Given the description of an element on the screen output the (x, y) to click on. 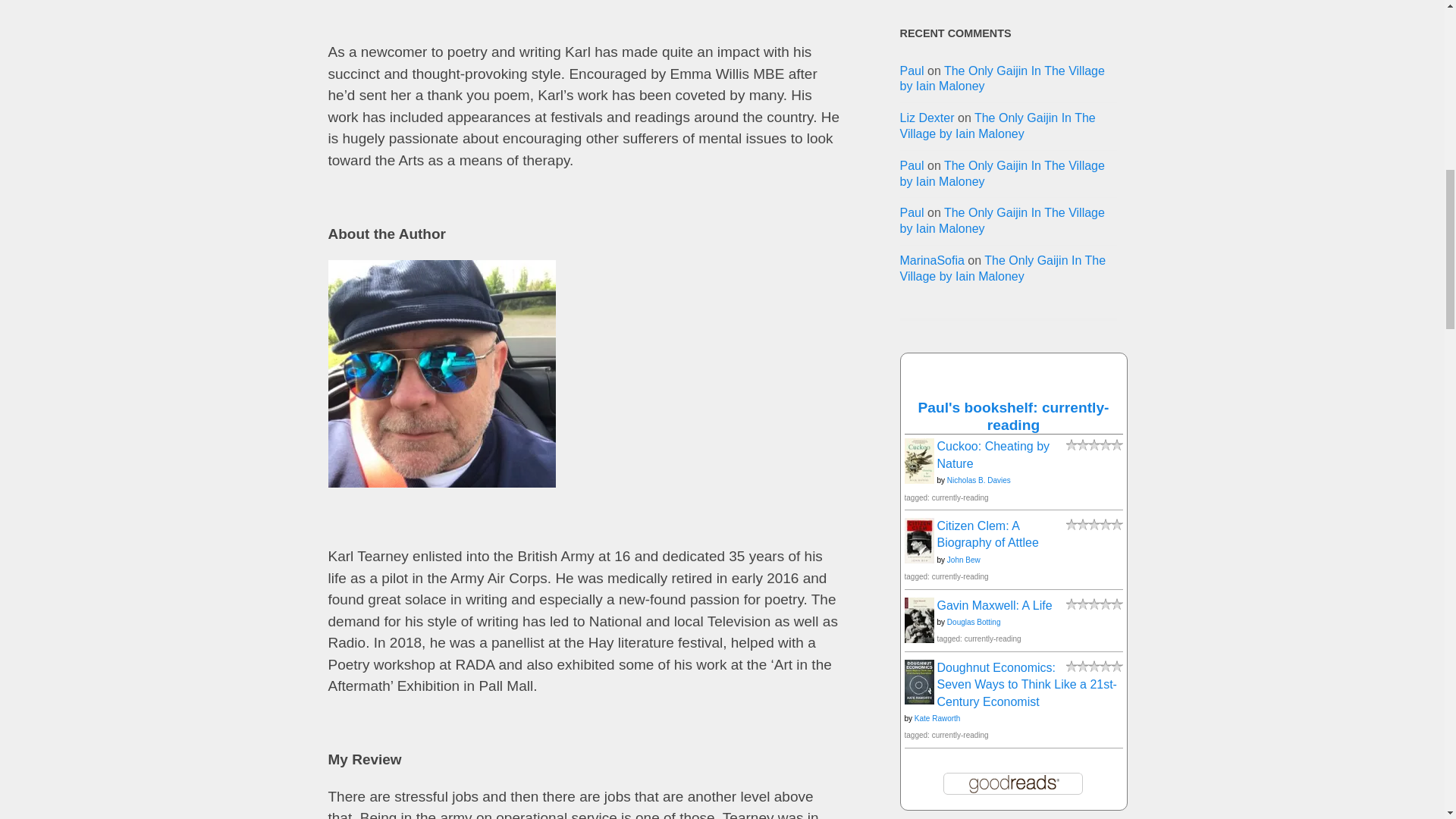
Citizen Clem: A Biography of Attlee (918, 558)
Cuckoo: Cheating by Nature (918, 479)
Gavin Maxwell: A Life (918, 639)
